Given the description of an element on the screen output the (x, y) to click on. 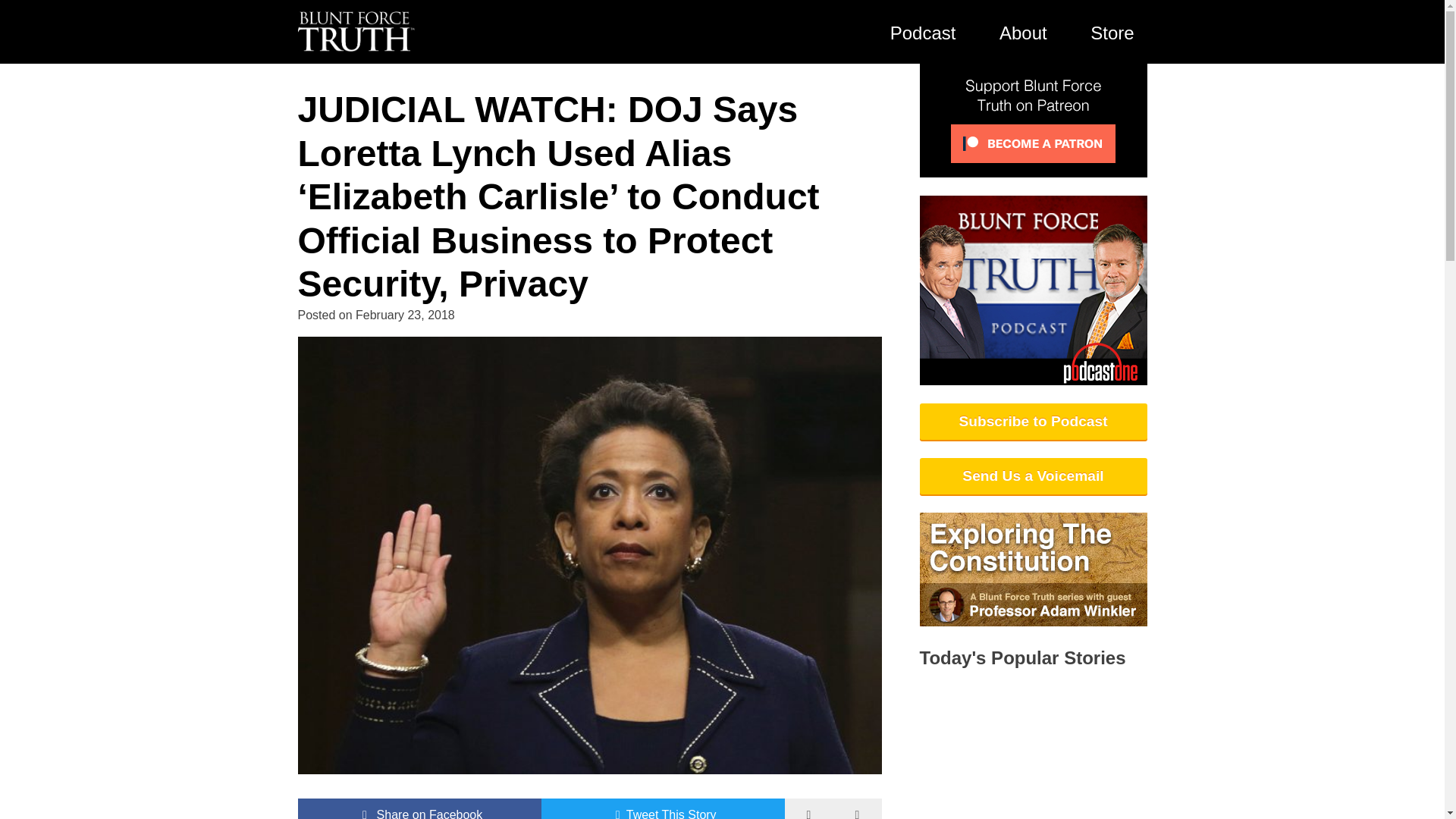
Share on Facebook (418, 808)
Send Us a Voicemail (1032, 475)
Store (1112, 31)
Subscribe to Podcast (1032, 421)
Tweet This Story (662, 808)
About (1023, 31)
Podcast (922, 31)
